Given the description of an element on the screen output the (x, y) to click on. 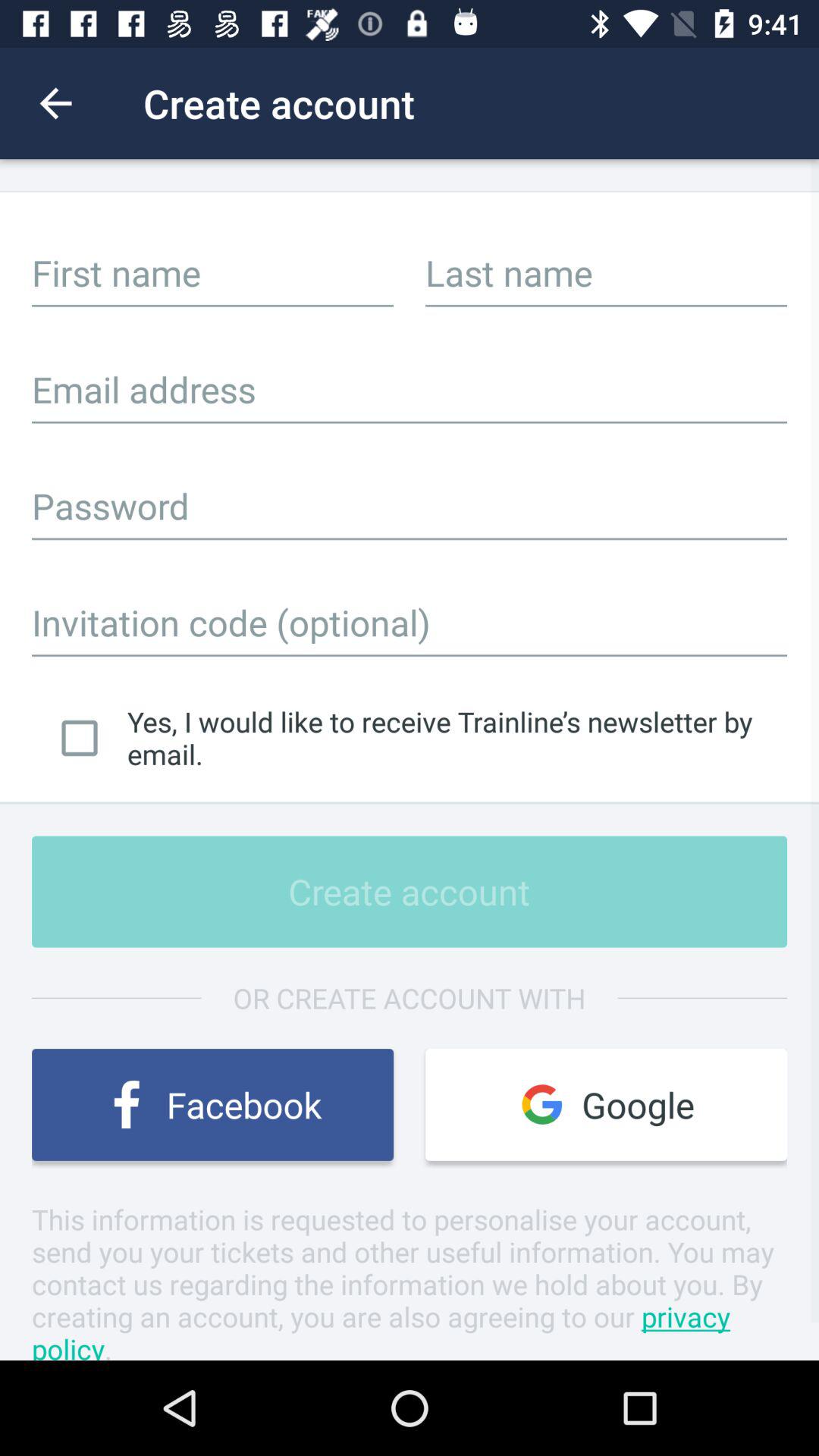
enter email (409, 389)
